Given the description of an element on the screen output the (x, y) to click on. 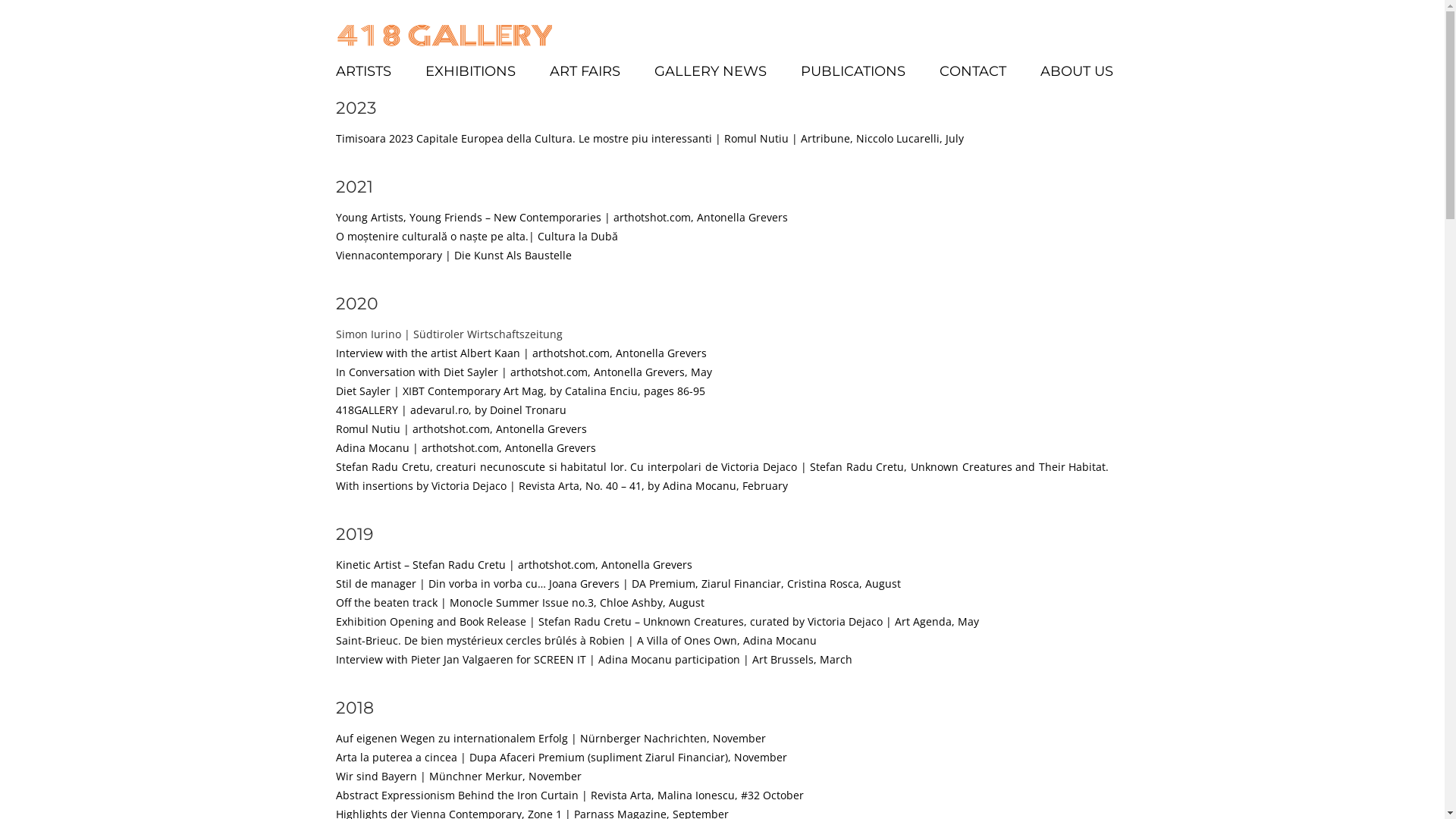
ARTISTS Element type: text (362, 70)
Romul Nutiu | arthotshot.com, Antonella Grevers Element type: text (460, 428)
ABOUT US Element type: text (1076, 70)
EXHIBITIONS Element type: text (469, 70)
GALLERY NEWS Element type: text (709, 70)
PUBLICATIONS Element type: text (852, 70)
CONTACT Element type: text (971, 70)
418GALLERY | adevarul.ro, by Doinel Tronaru Element type: text (450, 408)
ART FAIRS Element type: text (584, 70)
Viennacontemporary | Die Kunst Als Baustelle Element type: text (453, 254)
Adina Mocanu | arthotshot.com, Antonella Grevers Element type: text (465, 446)
